Given the description of an element on the screen output the (x, y) to click on. 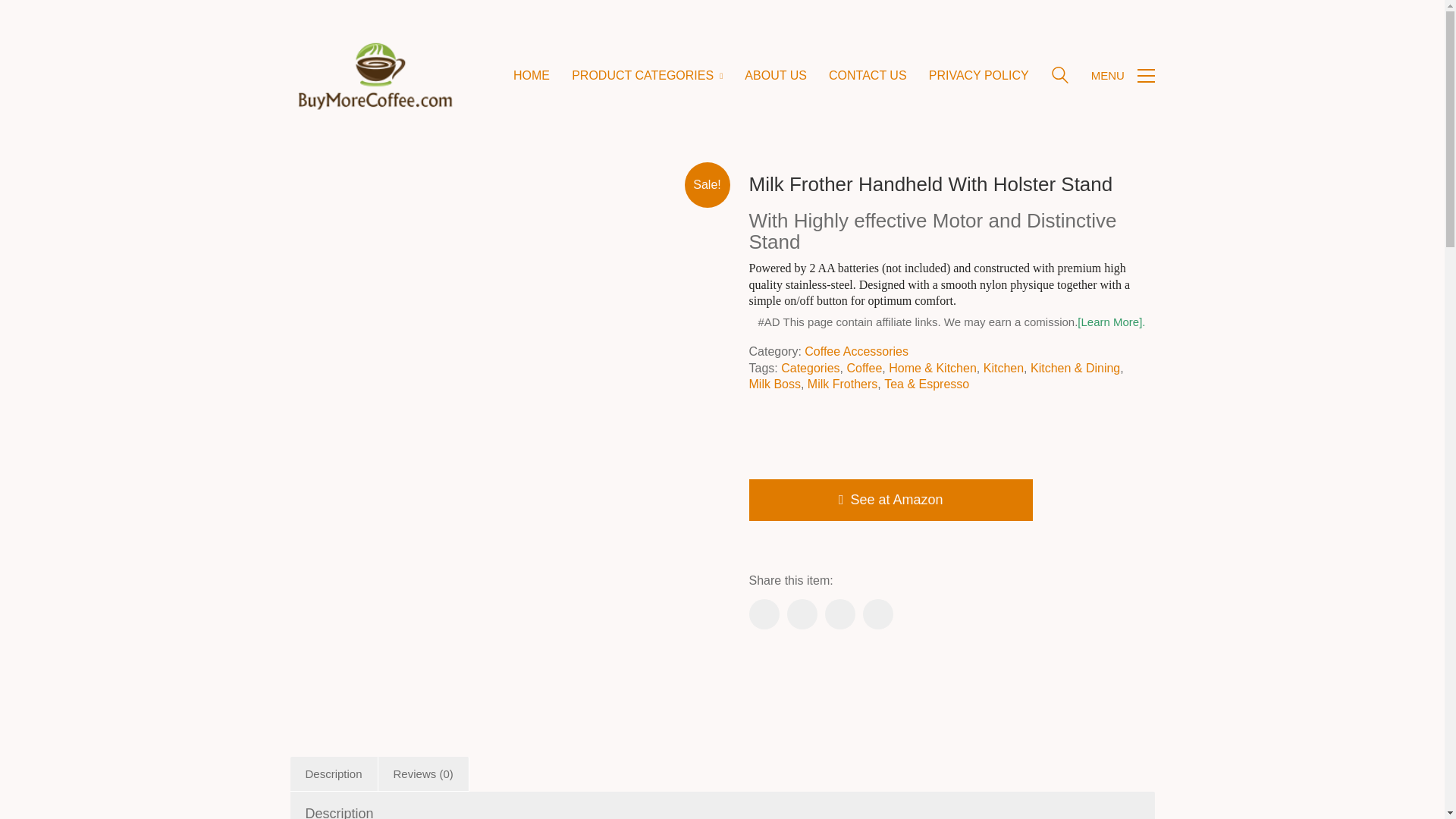
HOME (531, 75)
MENU (1122, 75)
PRODUCT CATEGORIES (647, 75)
CONTACT US (867, 75)
PRIVACY POLICY (978, 75)
ABOUT US (775, 75)
